Given the description of an element on the screen output the (x, y) to click on. 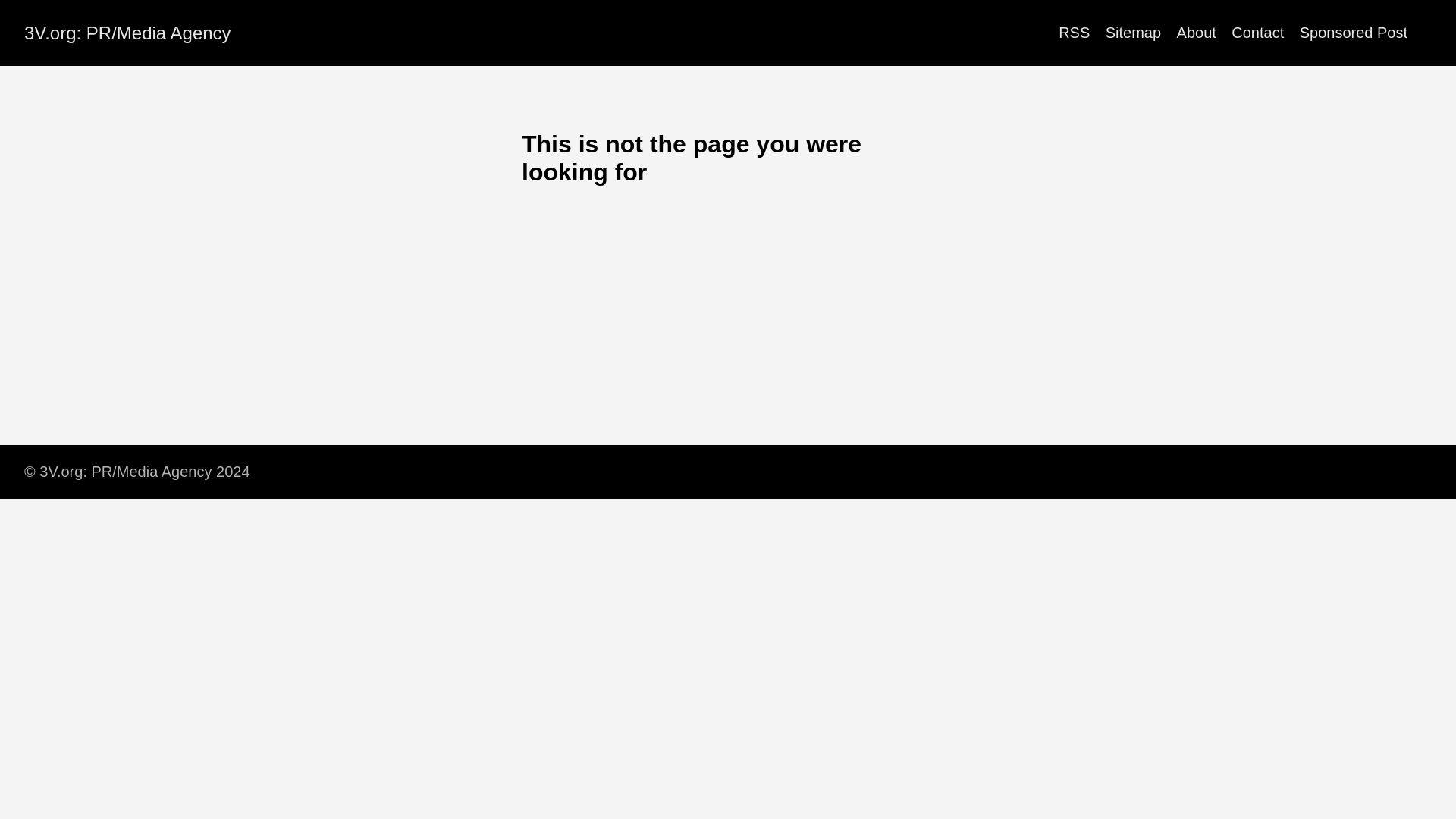
RSS page (1073, 32)
RSS (1073, 32)
About (1195, 32)
Contact page (1257, 32)
Sitemap (1132, 32)
About page (1195, 32)
Sponsored Post page (1353, 32)
Sitemap page (1132, 32)
Contact (1257, 32)
Sponsored Post (1353, 32)
